Given the description of an element on the screen output the (x, y) to click on. 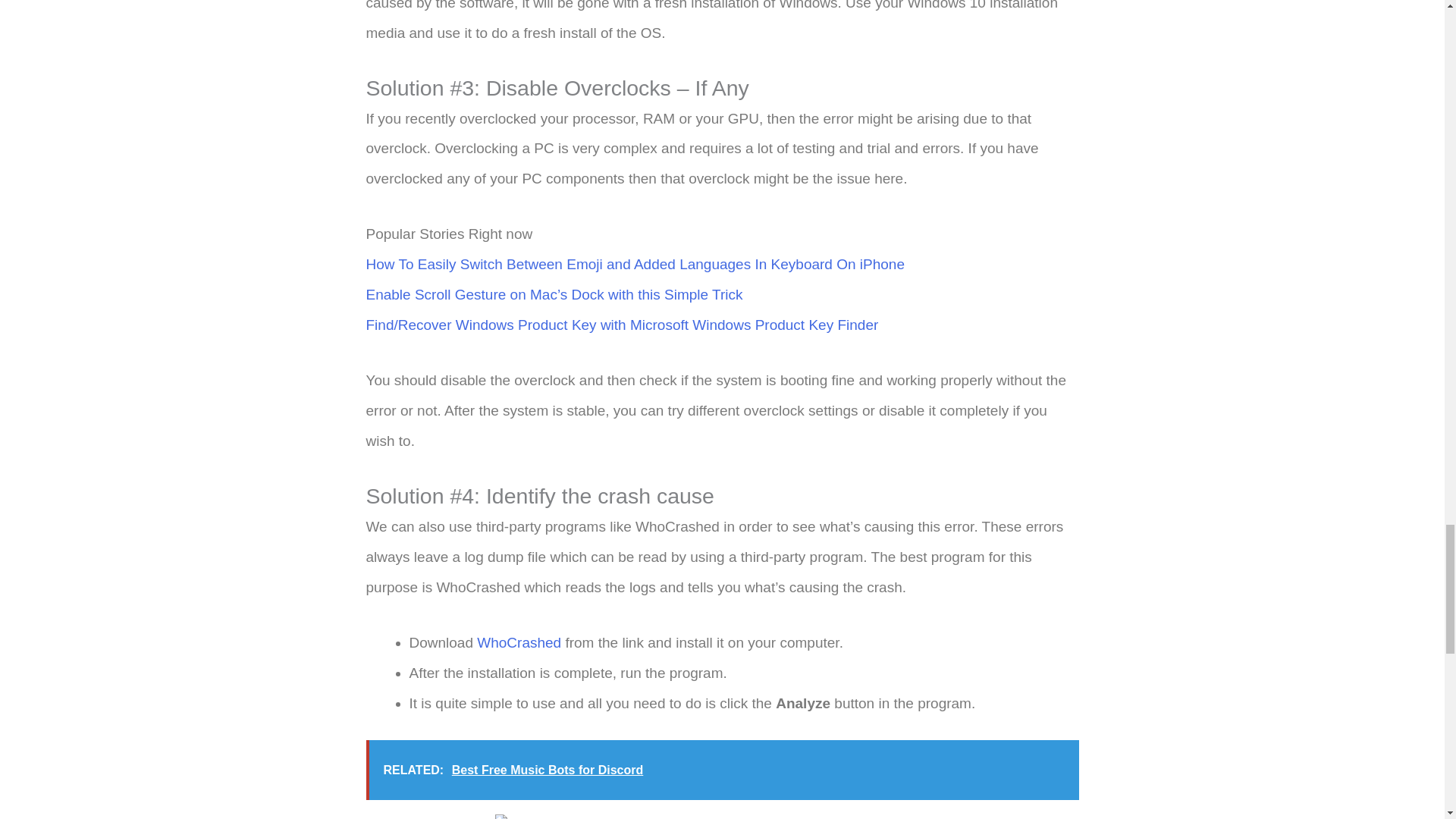
RELATED:  Best Free Music Bots for Discord (721, 770)
WhoCrashed (518, 642)
